Given the description of an element on the screen output the (x, y) to click on. 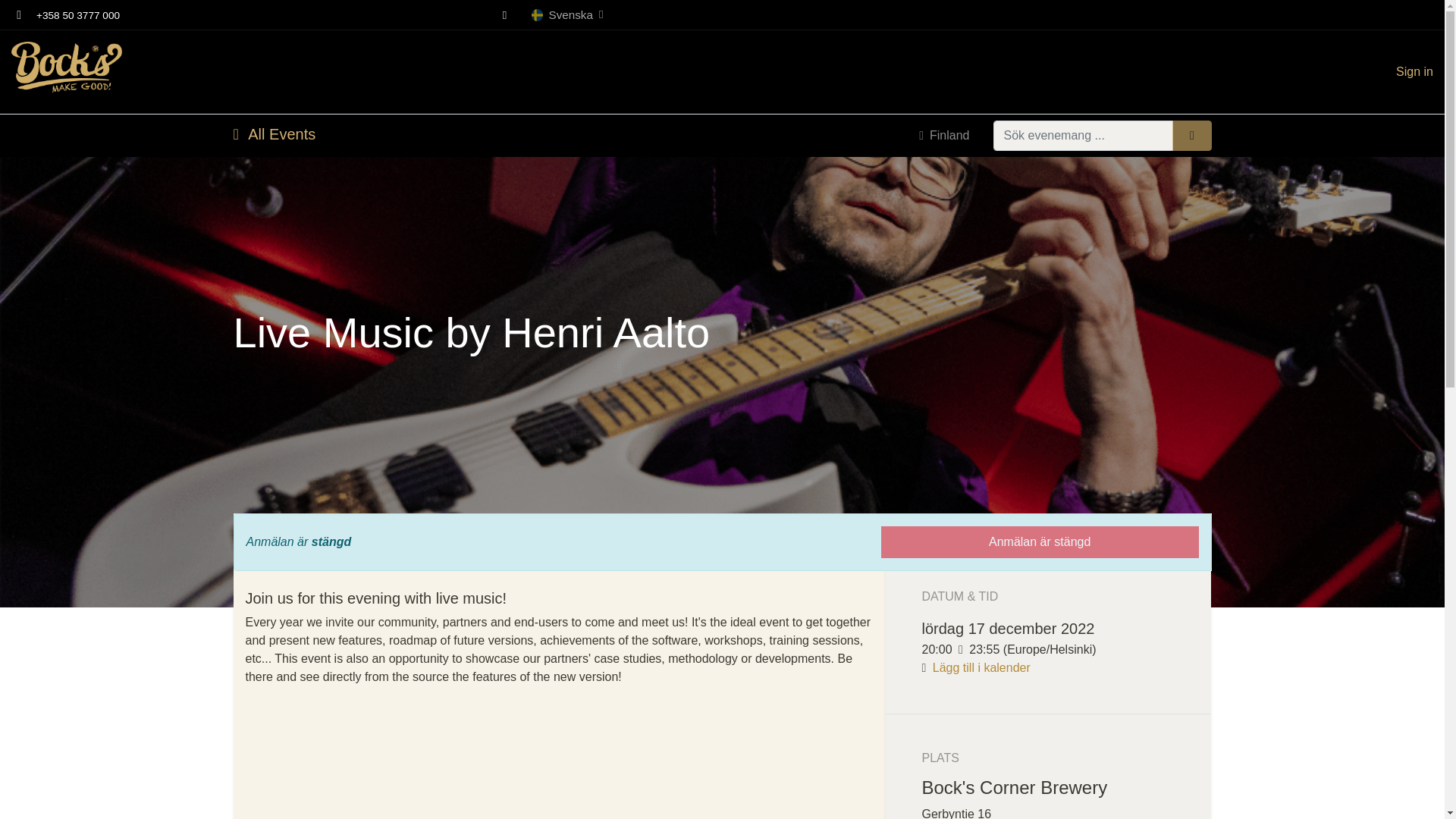
Bock's Corner Brewery (66, 71)
Svenska (566, 14)
